Given the description of an element on the screen output the (x, y) to click on. 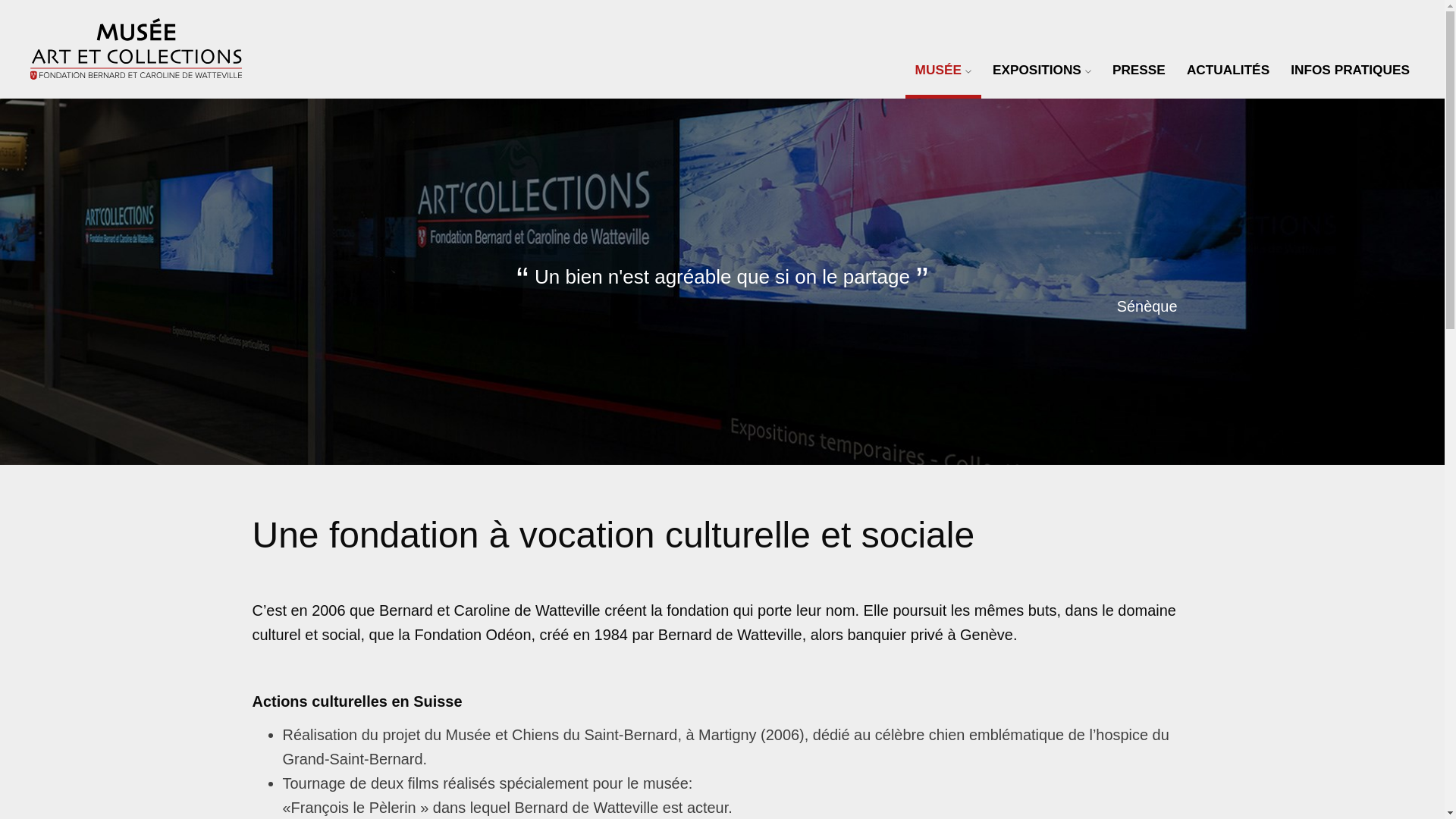
PRESSE Element type: text (1138, 69)
EXPOSITIONS Element type: text (1041, 69)
INFOS PRATIQUES Element type: text (1349, 69)
